Given the description of an element on the screen output the (x, y) to click on. 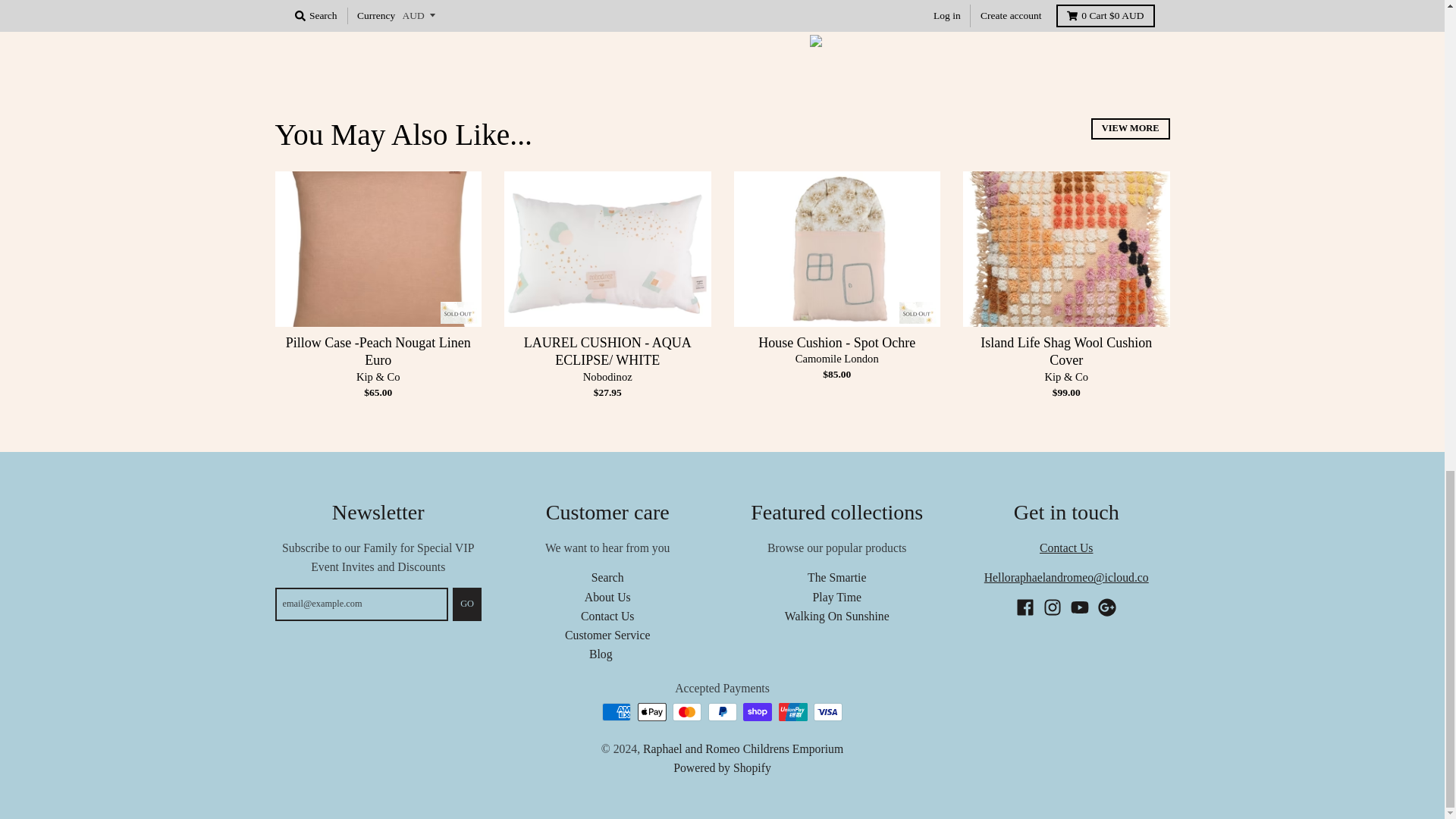
Nobodinoz (607, 377)
Contact Romeo and Raphael (1066, 576)
YouTube - Raphael and Romeo Childrens Emporium (1079, 607)
Google Plus - Raphael and Romeo Childrens Emporium (1106, 607)
Instagram - Raphael and Romeo Childrens Emporium (1052, 607)
Camomile London (836, 358)
Facebook - Raphael and Romeo Childrens Emporium (1024, 607)
